Given the description of an element on the screen output the (x, y) to click on. 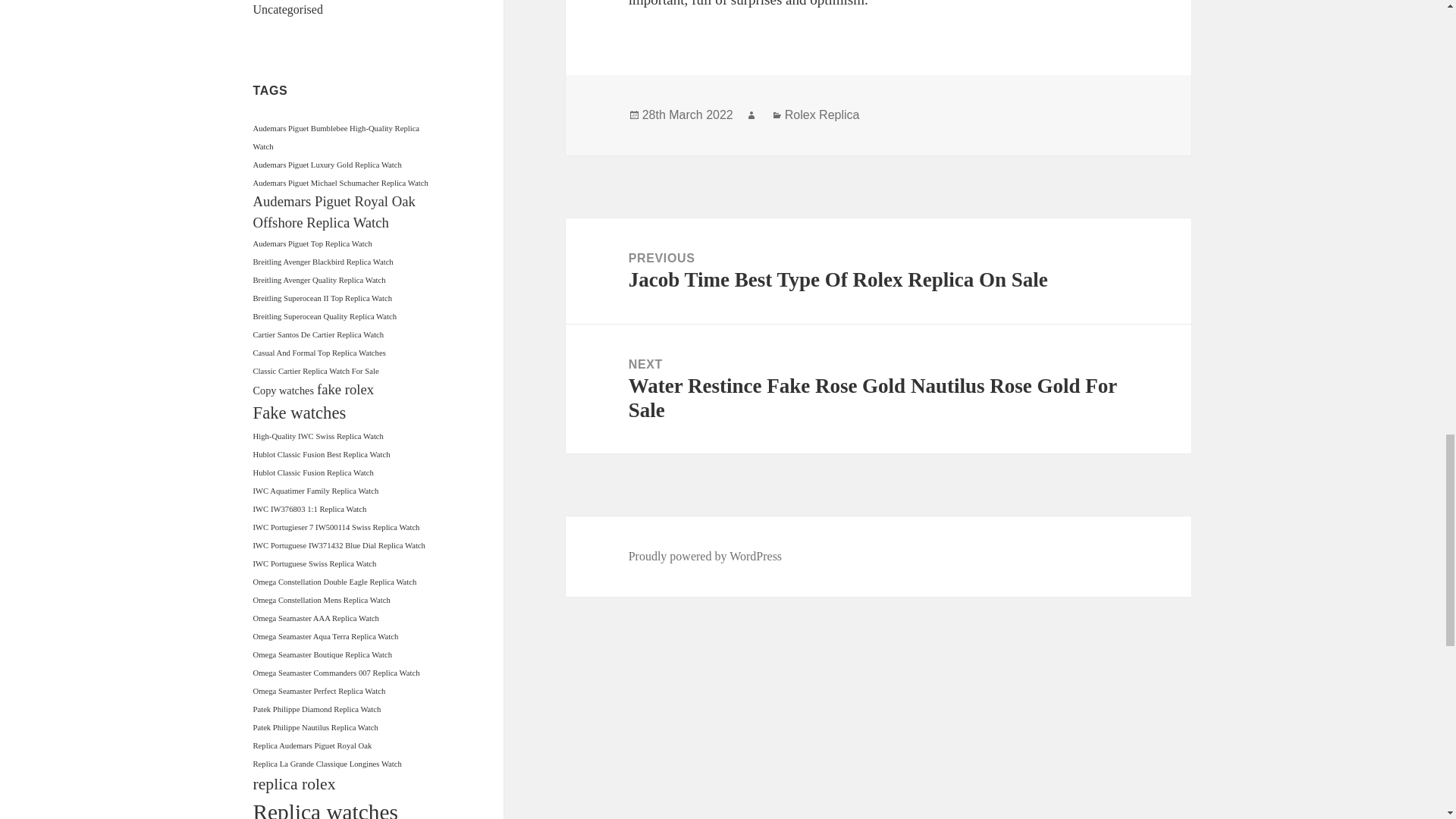
Audemars Piguet Luxury Gold Replica Watch (327, 164)
Breitling Avenger Blackbird Replica Watch (323, 261)
Audemars Piguet Bumblebee High-Quality Replica Watch (336, 137)
Uncategorised (288, 9)
Audemars Piguet Top Replica Watch (312, 243)
Breitling Superocean Quality Replica Watch (325, 316)
Breitling Superocean II Top Replica Watch (323, 298)
Casual And Formal Top Replica Watches (319, 352)
Audemars Piguet Michael Schumacher Replica Watch (340, 183)
Breitling Avenger Quality Replica Watch (319, 280)
Cartier Santos De Cartier Replica Watch (318, 334)
Classic Cartier Replica Watch For Sale (315, 370)
Audemars Piguet Royal Oak Offshore Replica Watch (333, 211)
